Given the description of an element on the screen output the (x, y) to click on. 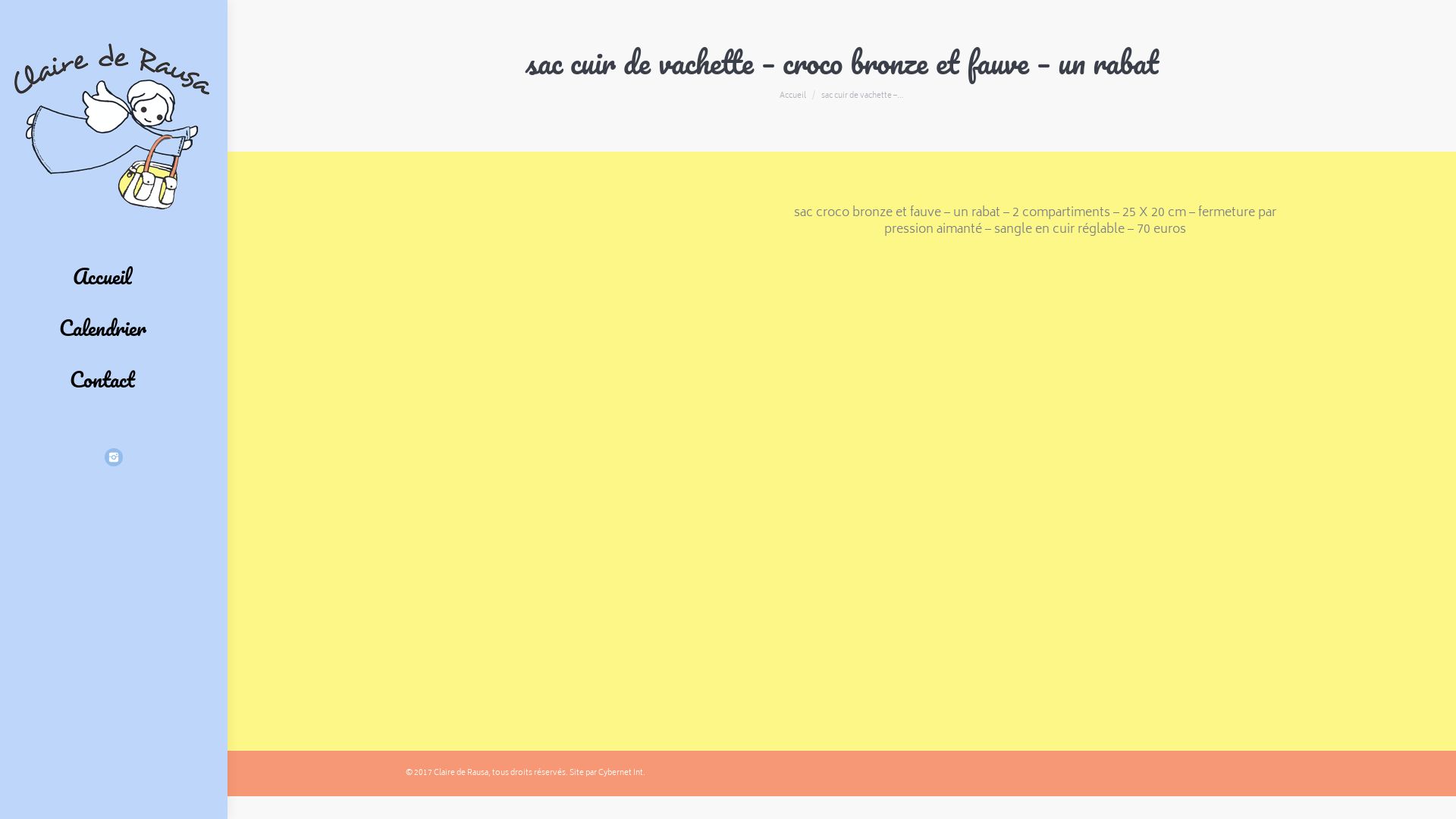
Calendrier Element type: text (102, 327)
Instagram Element type: hover (113, 457)
Accueil Element type: text (792, 96)
Accueil Element type: text (102, 275)
Cybernet Int. Element type: text (621, 772)
Contact Element type: text (102, 378)
